Given the description of an element on the screen output the (x, y) to click on. 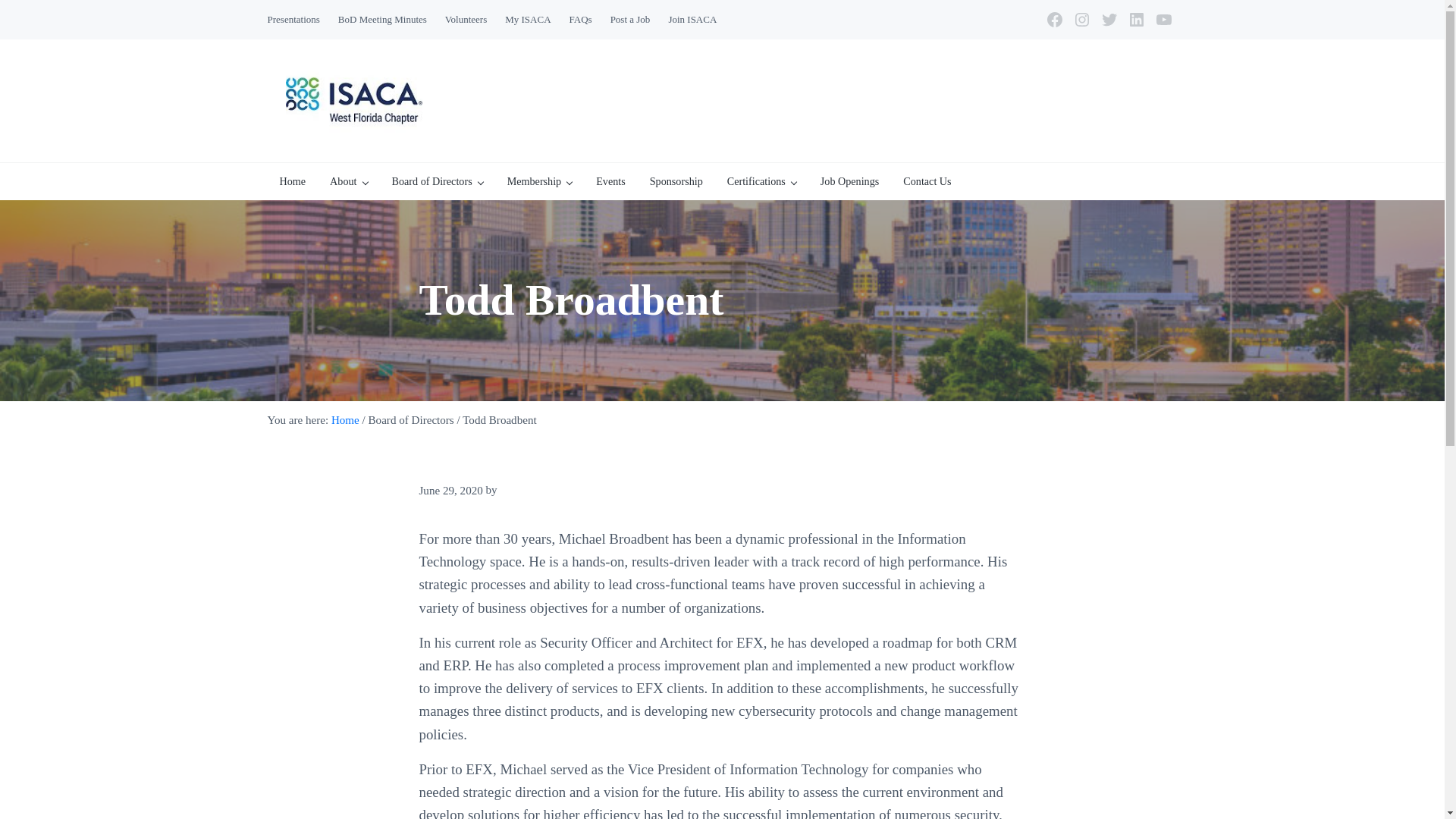
My ISACA (527, 20)
Sponsorship (675, 180)
Home (291, 180)
About (347, 180)
Presentations (292, 20)
Facebook (1054, 19)
Volunteers (465, 20)
Events (610, 180)
BoD Meeting Minutes (381, 20)
YouTube (1163, 19)
Certifications (761, 180)
Twitter (1108, 19)
Join ISACA (692, 20)
FAQs (580, 20)
